Given the description of an element on the screen output the (x, y) to click on. 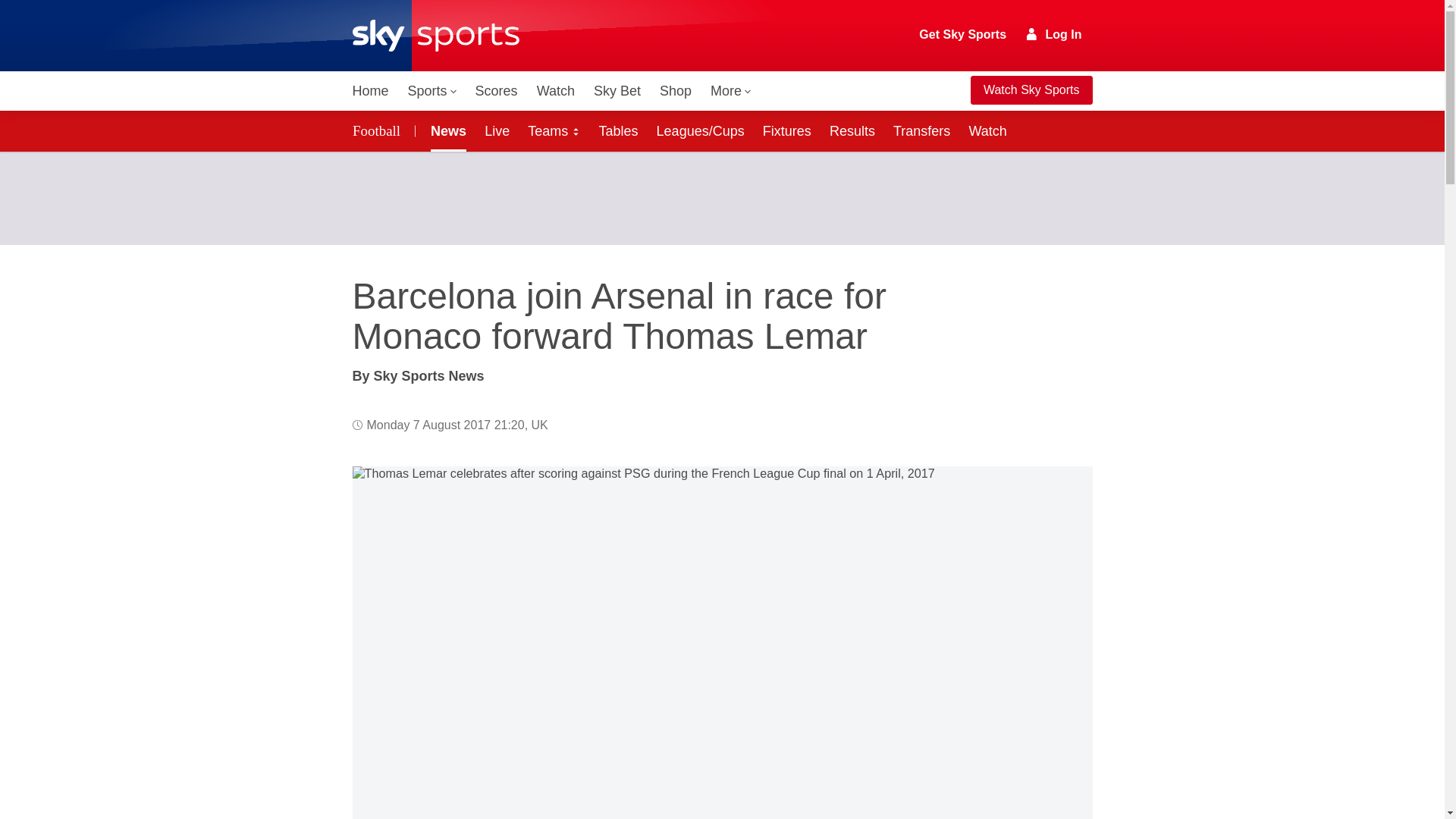
Shop (675, 91)
More (730, 91)
Football (378, 130)
Get Sky Sports (962, 34)
Sky Bet (616, 91)
Scores (496, 91)
Home (369, 91)
Watch (555, 91)
Log In (1053, 33)
News (445, 130)
